Given the description of an element on the screen output the (x, y) to click on. 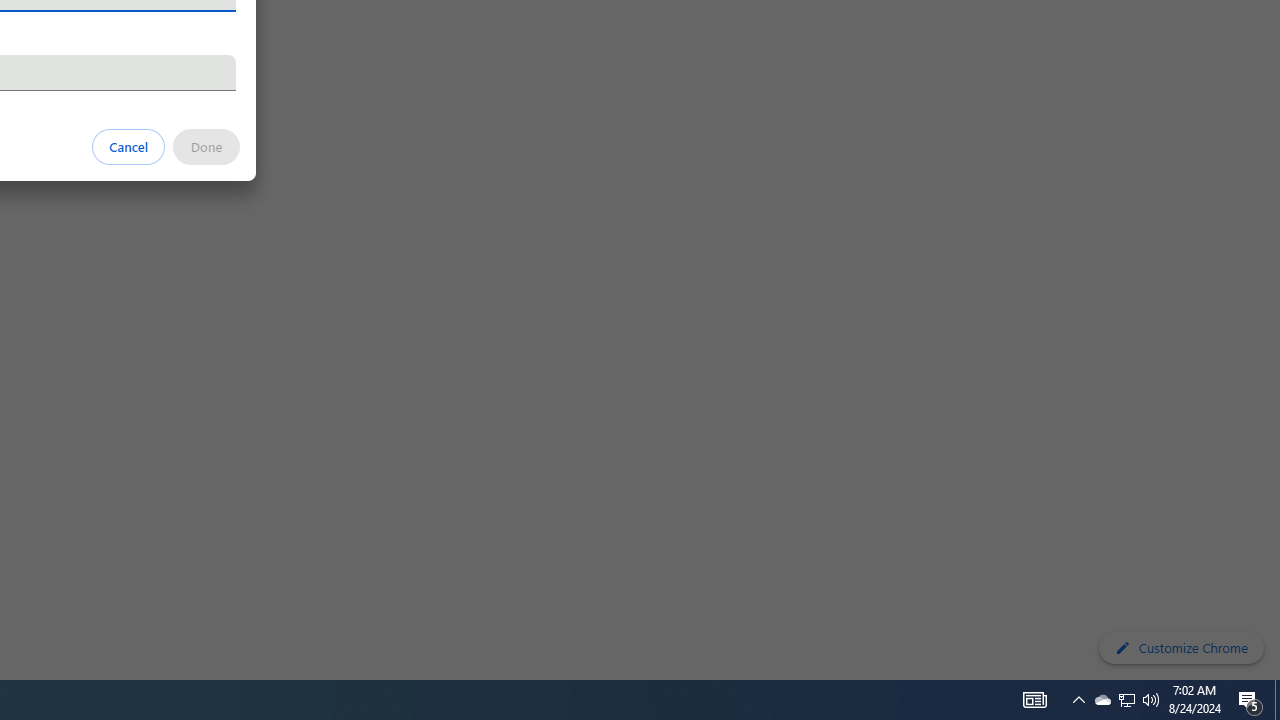
Done (206, 146)
Cancel (129, 146)
